Given the description of an element on the screen output the (x, y) to click on. 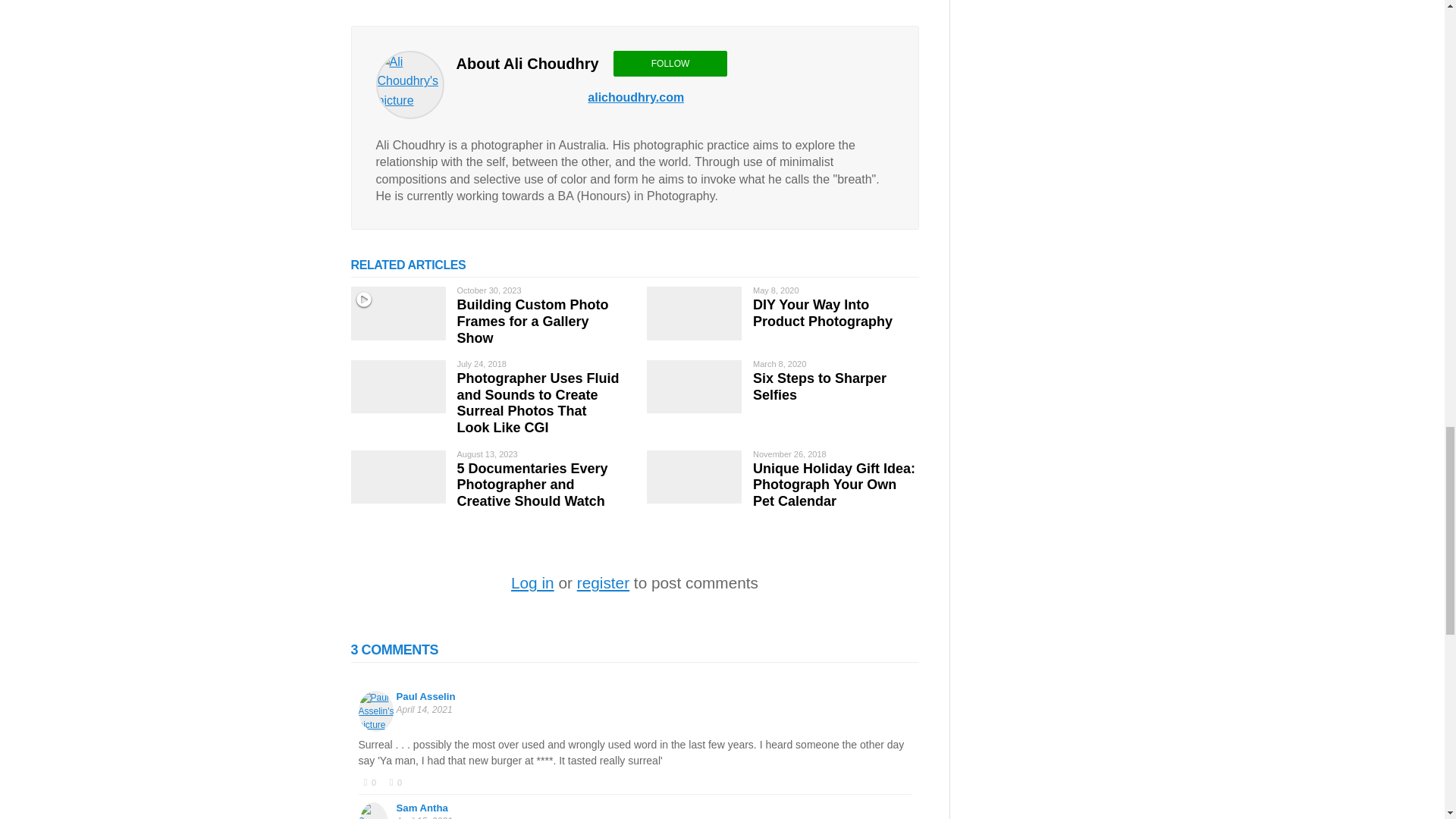
FOLLOW (669, 63)
